Given the description of an element on the screen output the (x, y) to click on. 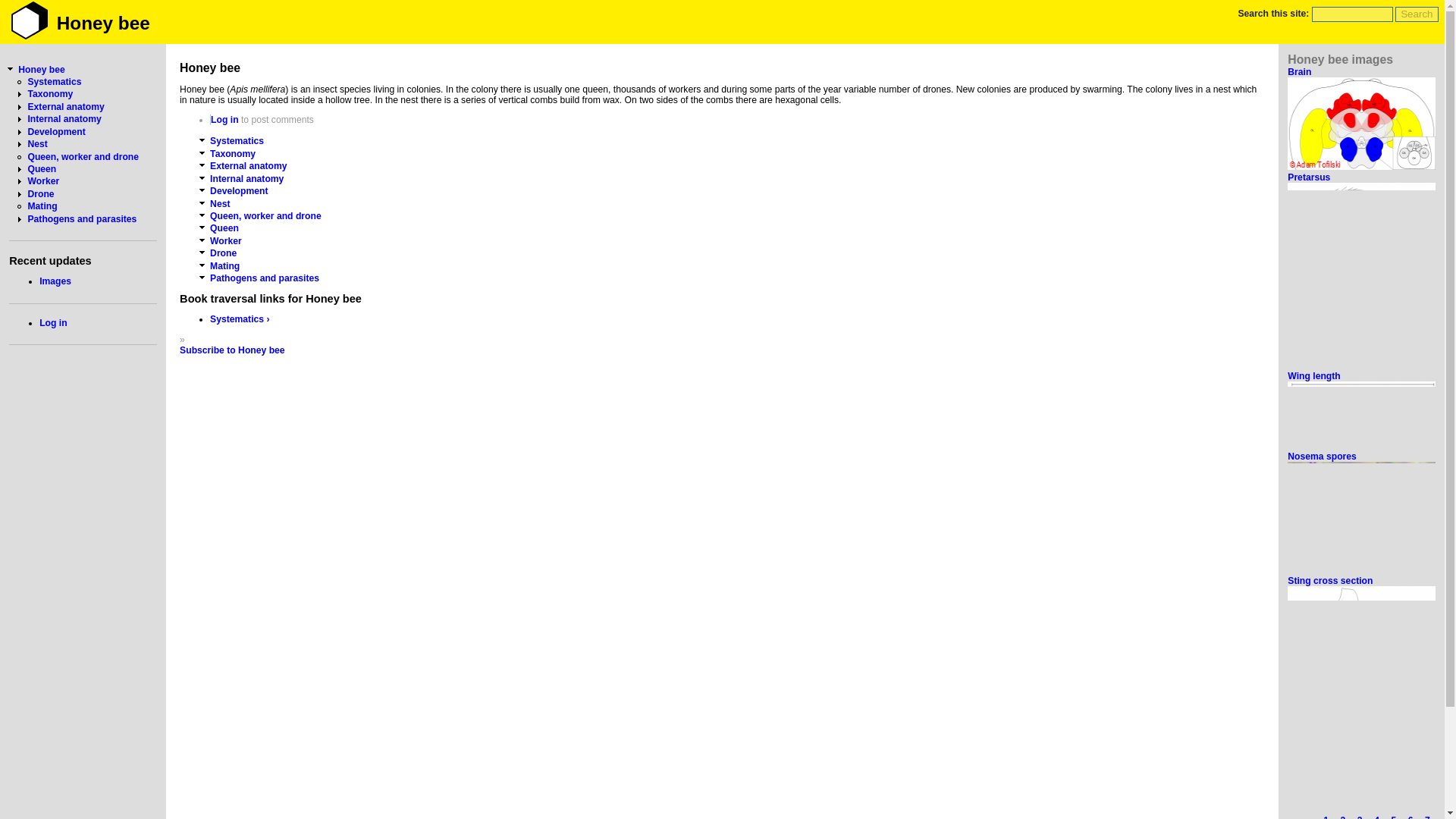
Drone (40, 194)
Taxonomy (232, 153)
Log in (52, 322)
Home (102, 23)
Images (55, 281)
Pathogens and parasites (263, 277)
Log in (224, 119)
Home (28, 21)
Drone (222, 253)
External anatomy (65, 106)
Queen (223, 227)
Search (1416, 13)
Queen (41, 168)
